Given the description of an element on the screen output the (x, y) to click on. 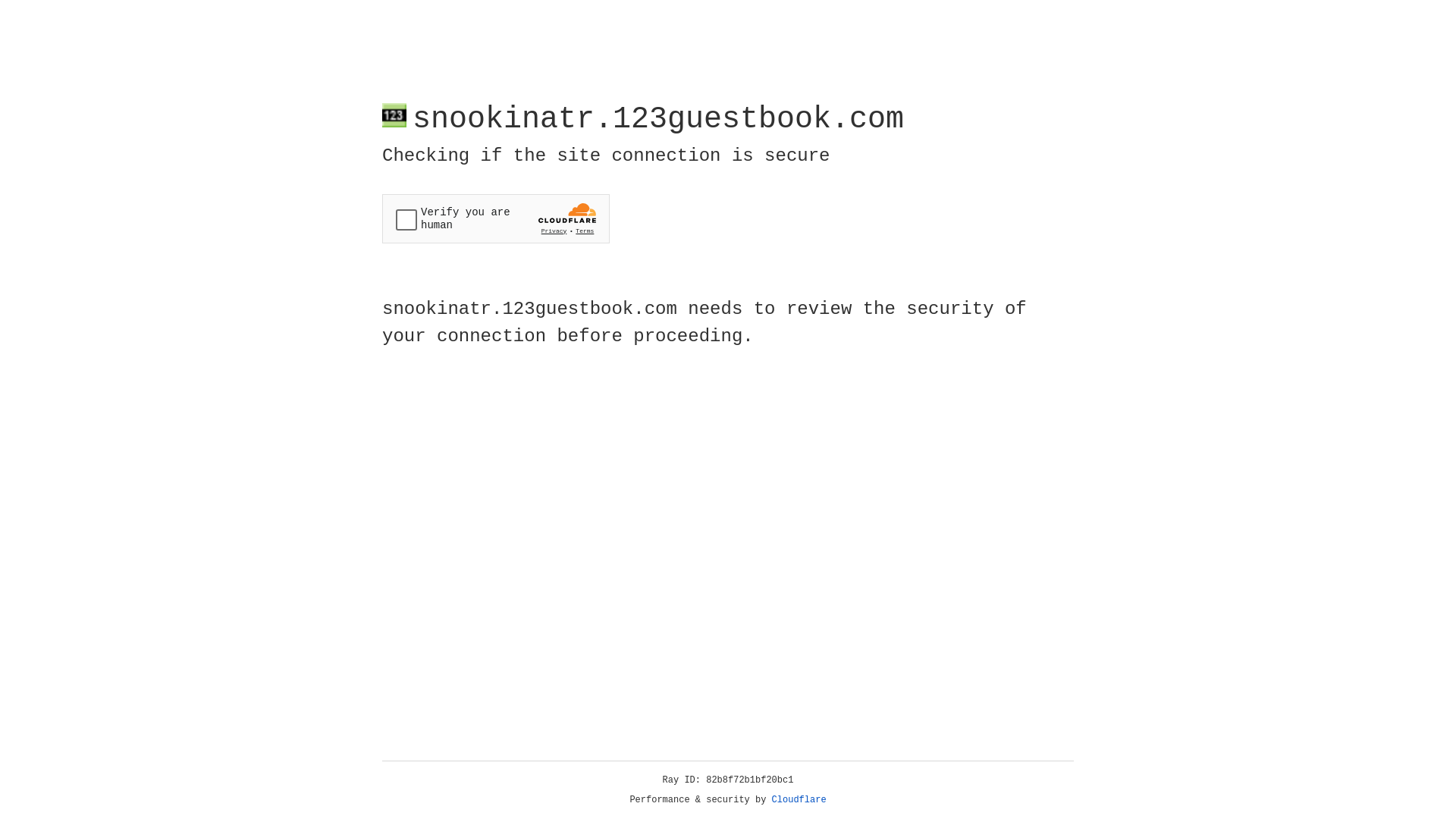
Cloudflare Element type: text (798, 799)
Widget containing a Cloudflare security challenge Element type: hover (495, 218)
